Given the description of an element on the screen output the (x, y) to click on. 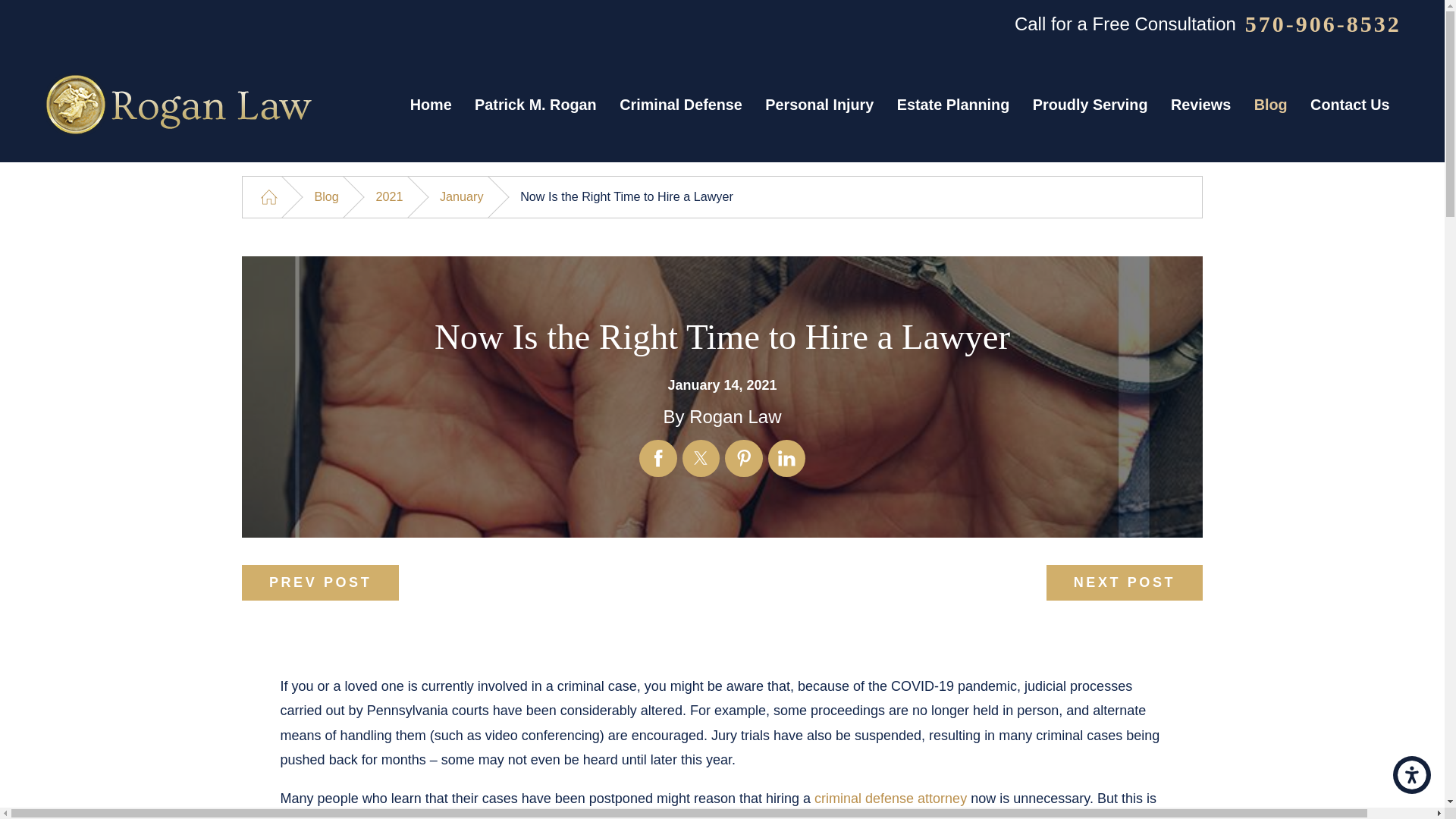
Personal Injury (819, 104)
Patrick M. Rogan (535, 104)
Open the accessibility options menu (1412, 774)
Criminal Defense (681, 104)
570-906-8532 (1322, 23)
Rogan Law (177, 104)
Go Home (269, 197)
